Given the description of an element on the screen output the (x, y) to click on. 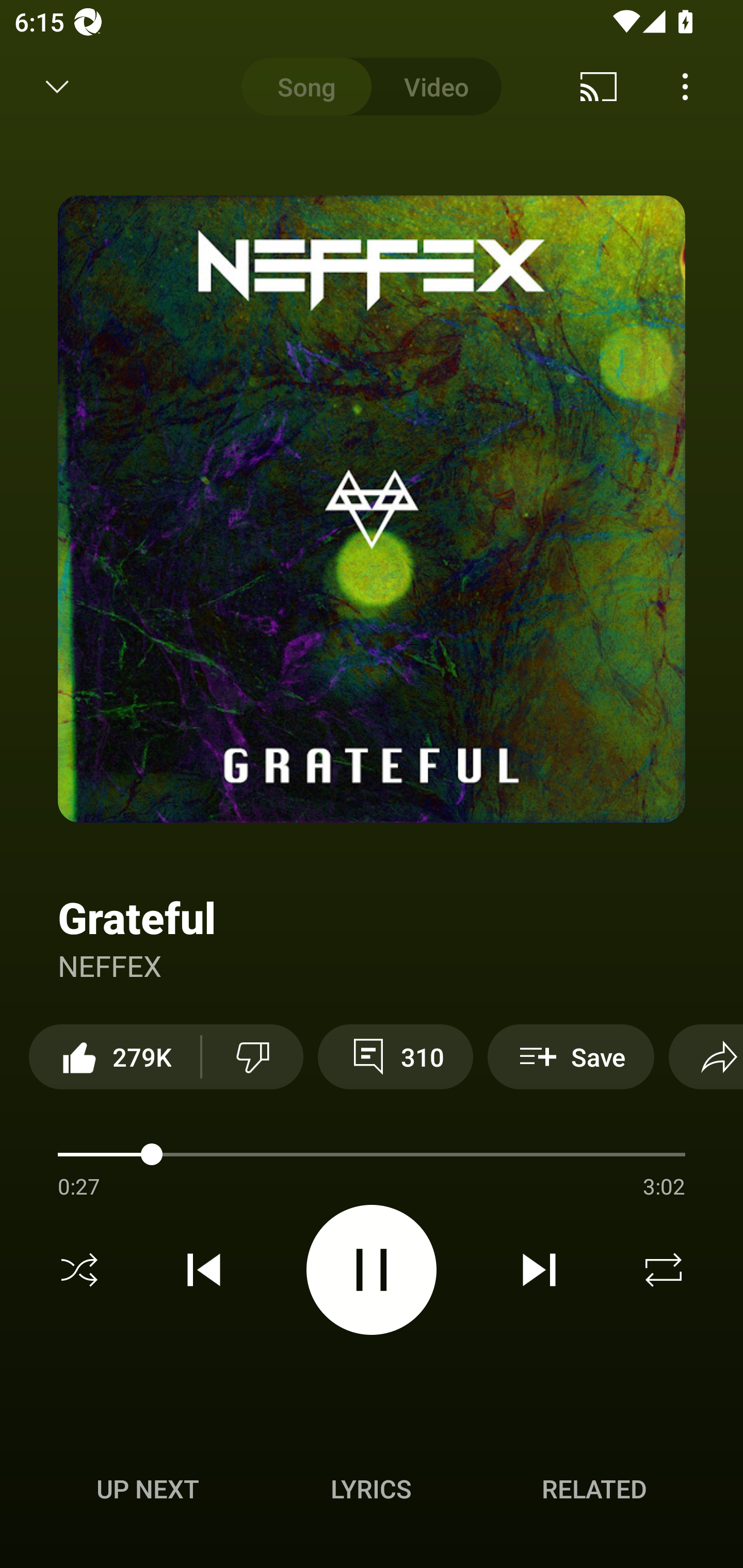
Minimize (57, 86)
Cast. Disconnected (598, 86)
Menu (684, 86)
Dislike (252, 1056)
310 View 310 comments (395, 1056)
Save Save to playlist (570, 1056)
Share (705, 1056)
Pause video (371, 1269)
Shuffle off (79, 1269)
Previous track (203, 1269)
Next track (538, 1269)
Repeat off (663, 1269)
Up next UP NEXT Lyrics LYRICS Related RELATED (371, 1491)
Lyrics LYRICS (370, 1488)
Related RELATED (594, 1488)
